Given the description of an element on the screen output the (x, y) to click on. 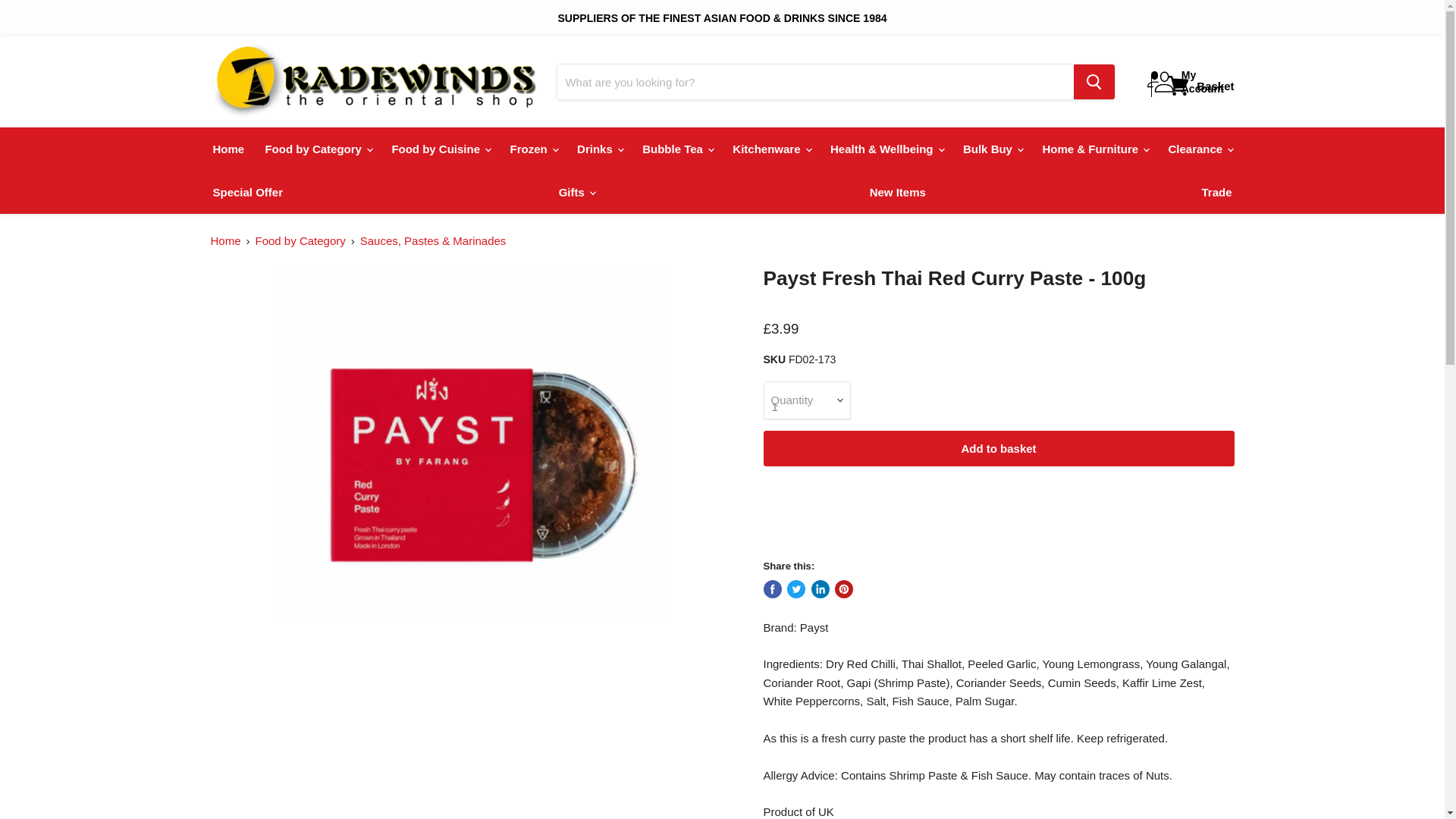
Home (228, 148)
Food by Category (317, 148)
